Given the description of an element on the screen output the (x, y) to click on. 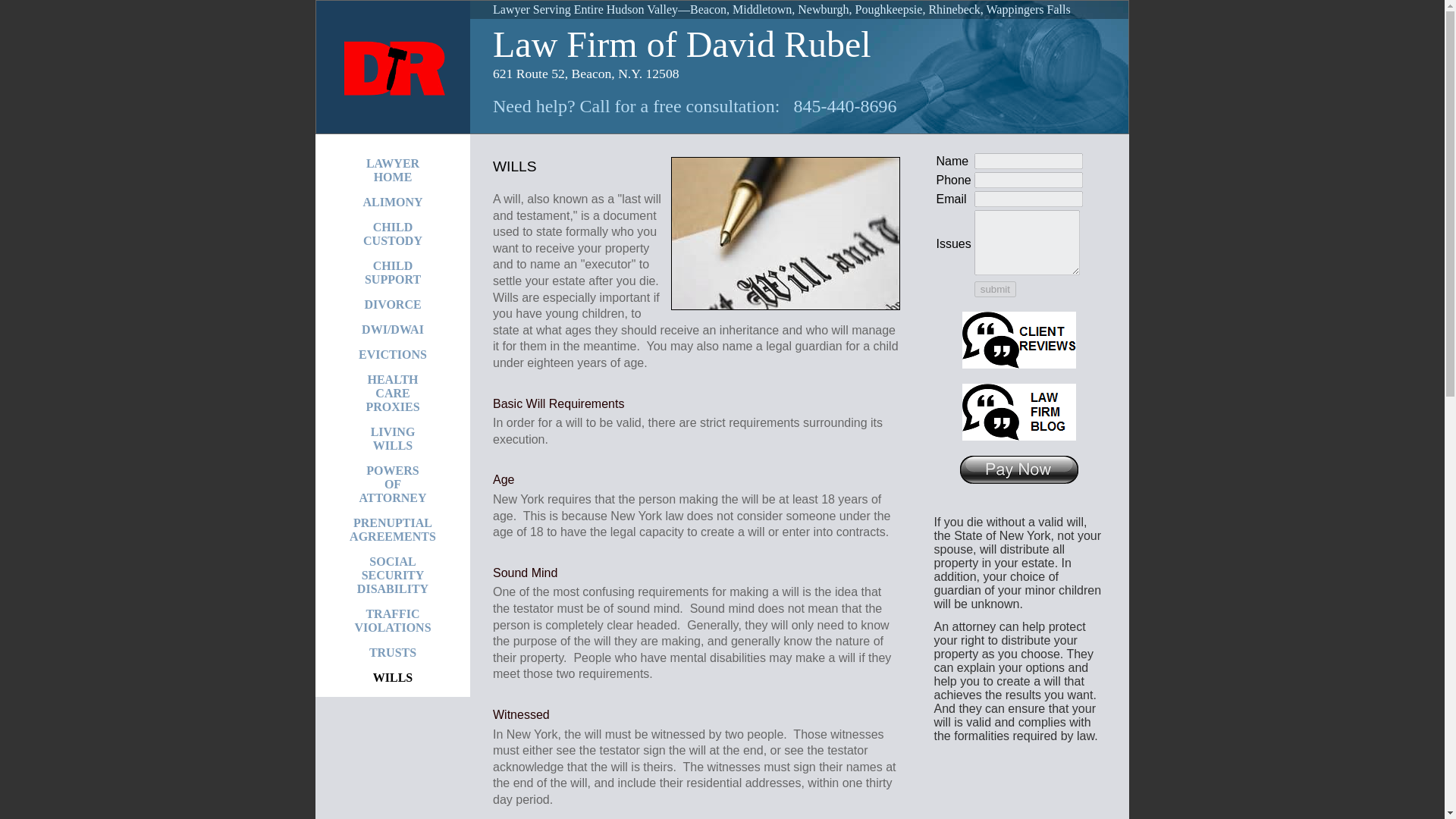
DIVORCE (391, 170)
Wills (391, 305)
845-440-8696 (784, 233)
submit (391, 529)
